Given the description of an element on the screen output the (x, y) to click on. 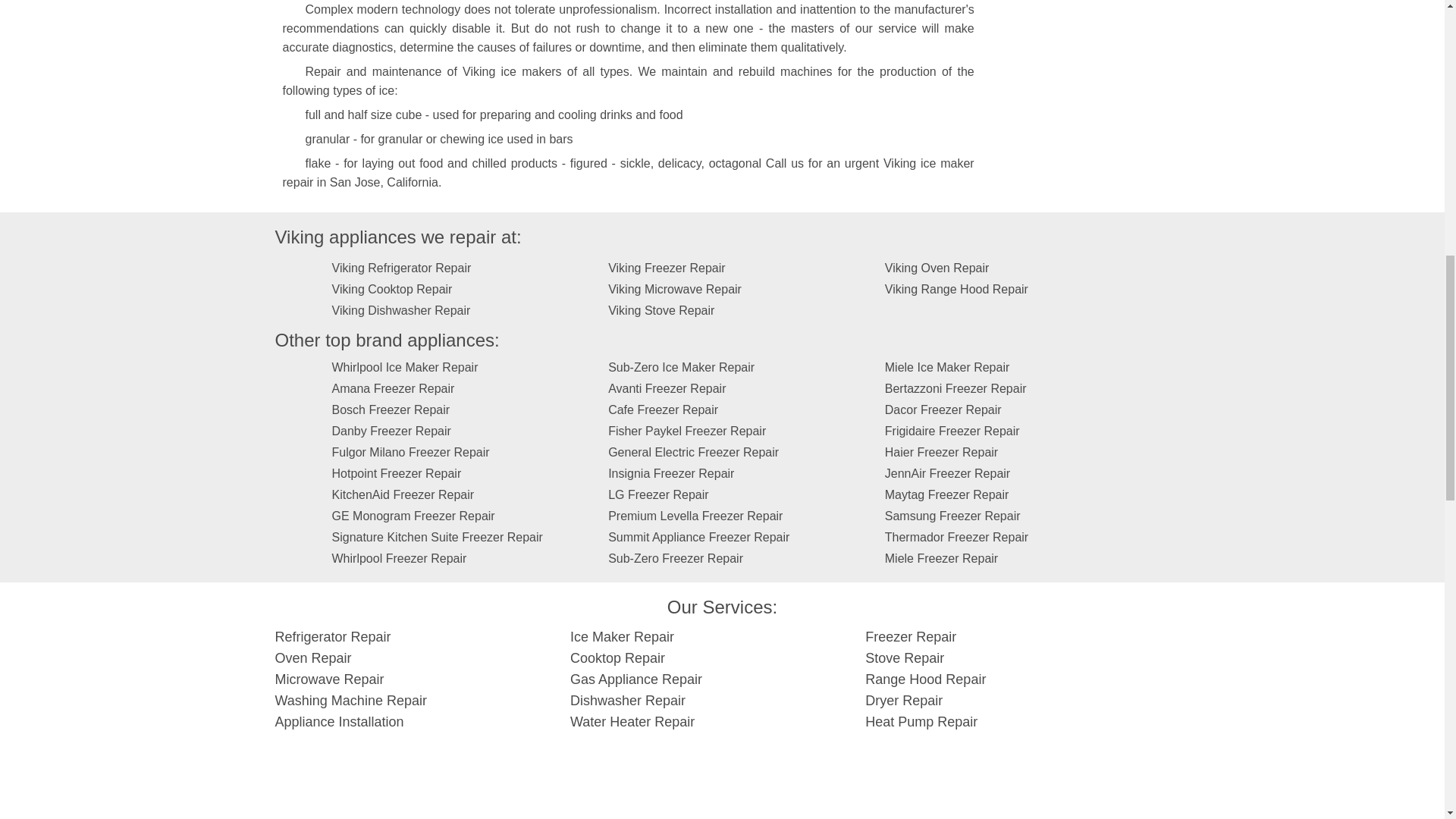
Danby Freezer Repair (391, 431)
Dacor Freezer Repair (943, 409)
GE Monogram Freezer Repair (413, 515)
Miele Ice Maker Repair (947, 367)
LG Freezer Repair (658, 494)
Maytag Freezer Repair (947, 494)
Viking Oven Repair (937, 267)
Amana Freezer Repair (392, 388)
Bosch Freezer Repair (390, 409)
JennAir Freezer Repair (947, 472)
